Given the description of an element on the screen output the (x, y) to click on. 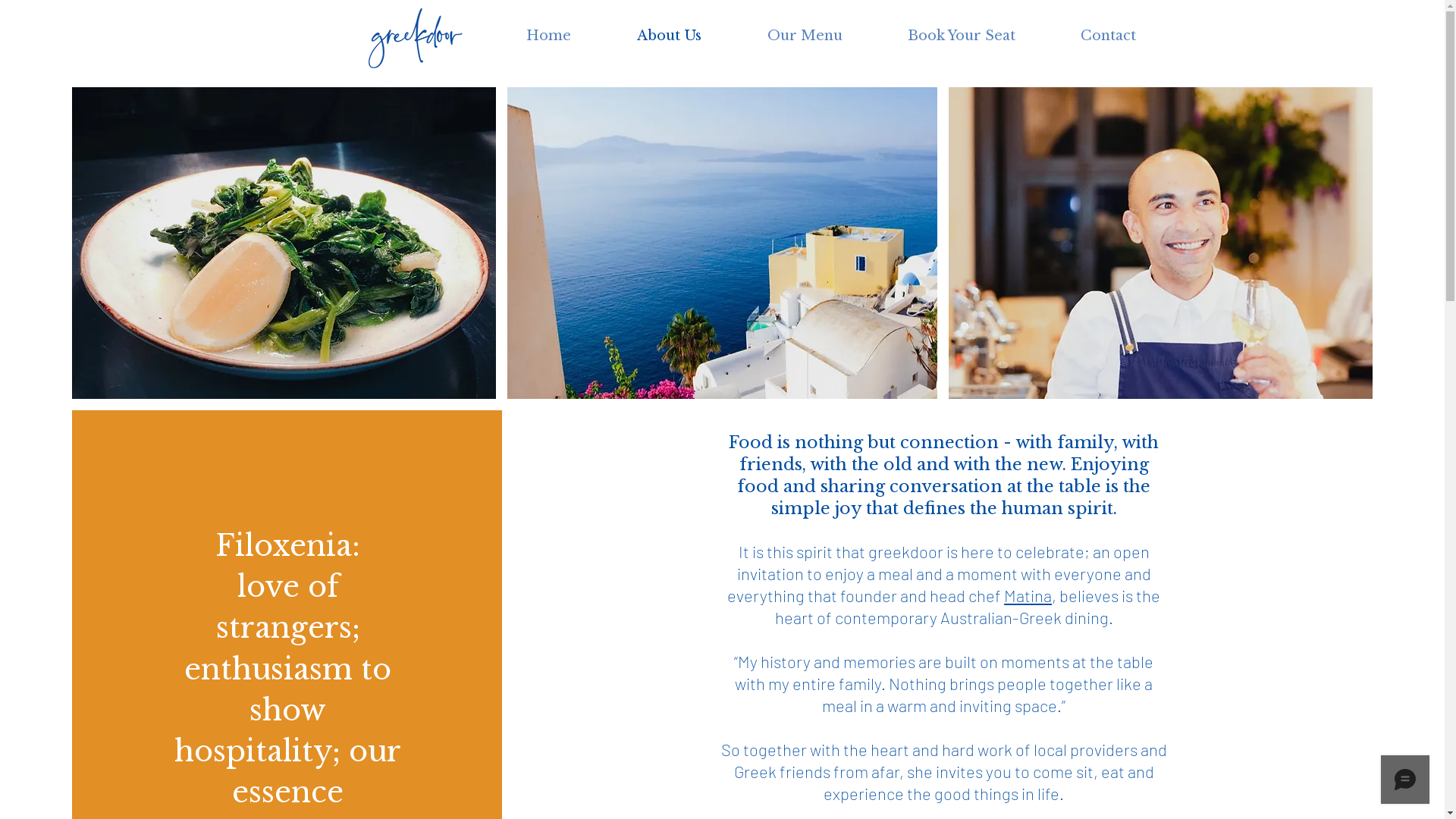
Our Menu Element type: text (804, 35)
Book Your Seat Element type: text (961, 35)
Home Element type: text (547, 35)
Contact Element type: text (1108, 35)
Matina Element type: text (1027, 595)
About Us Element type: text (668, 35)
